Given the description of an element on the screen output the (x, y) to click on. 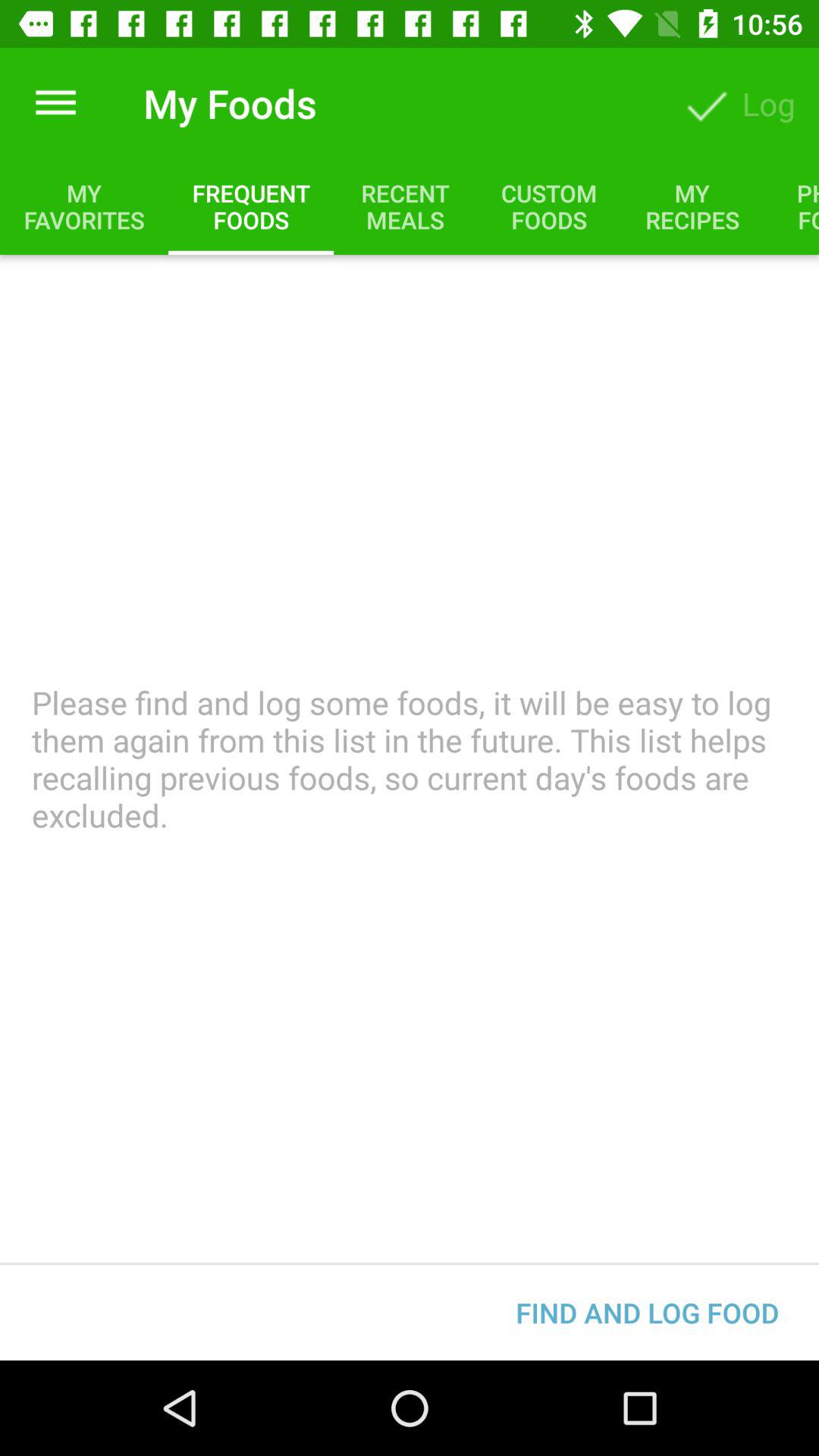
choose the icon to the left of the my foods item (55, 103)
